Given the description of an element on the screen output the (x, y) to click on. 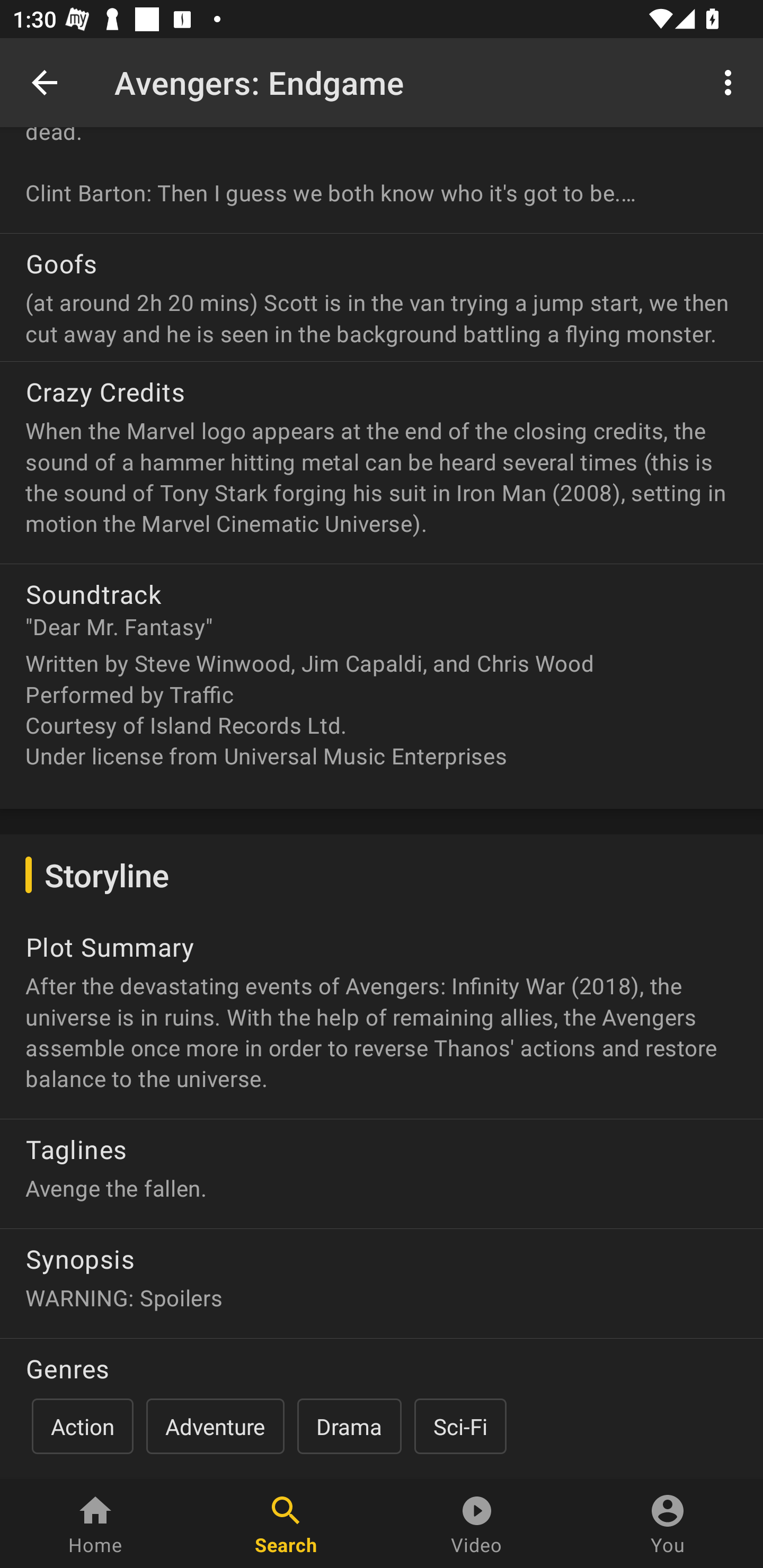
More options (731, 81)
Taglines Avenge the fallen. (381, 1167)
Synopsis WARNING: Spoilers (381, 1275)
Action (82, 1425)
Adventure (215, 1425)
Drama (349, 1425)
Sci-Fi (460, 1425)
Home (95, 1523)
Video (476, 1523)
You (667, 1523)
